Given the description of an element on the screen output the (x, y) to click on. 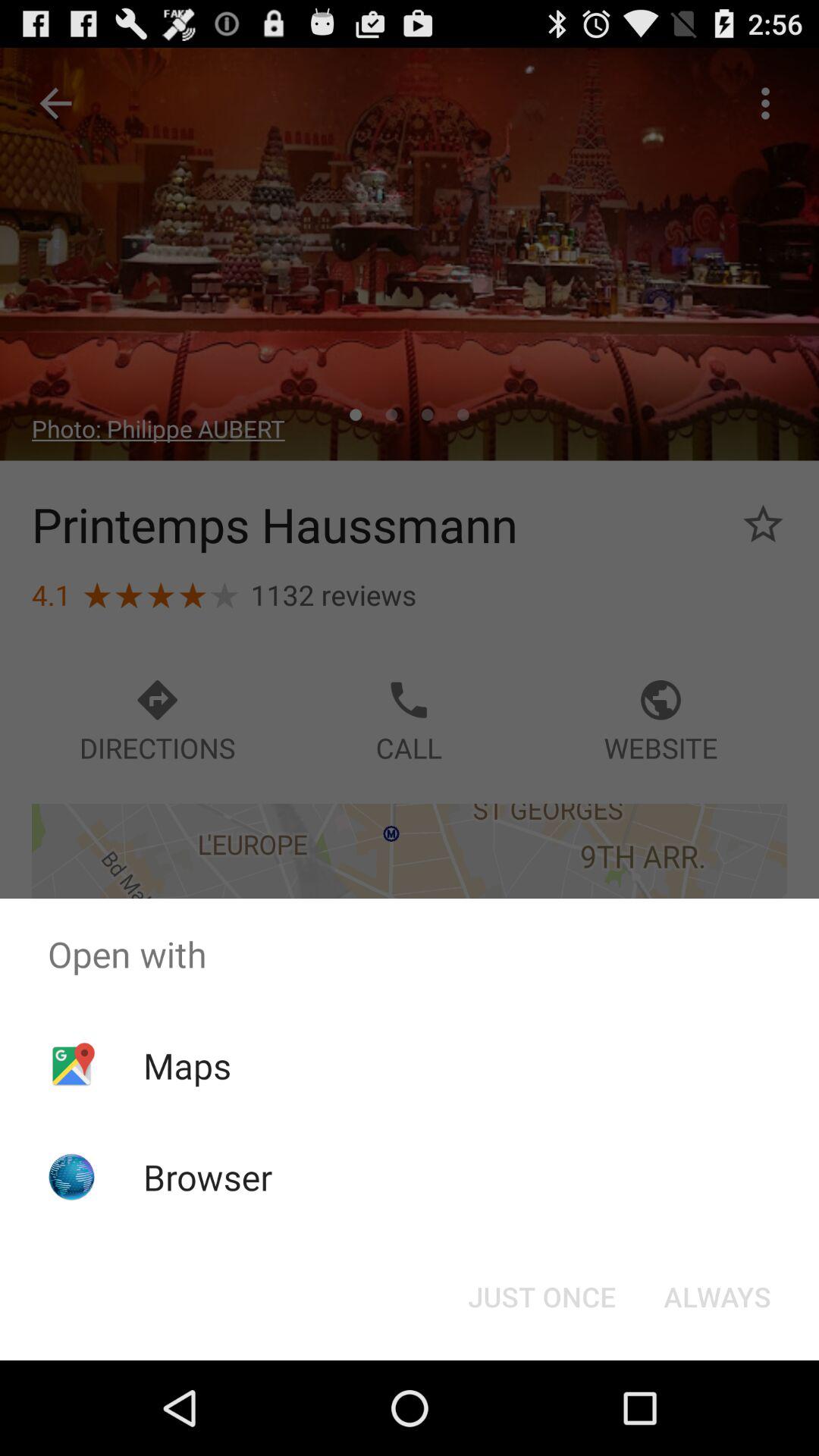
tap the item below open with item (717, 1296)
